Given the description of an element on the screen output the (x, y) to click on. 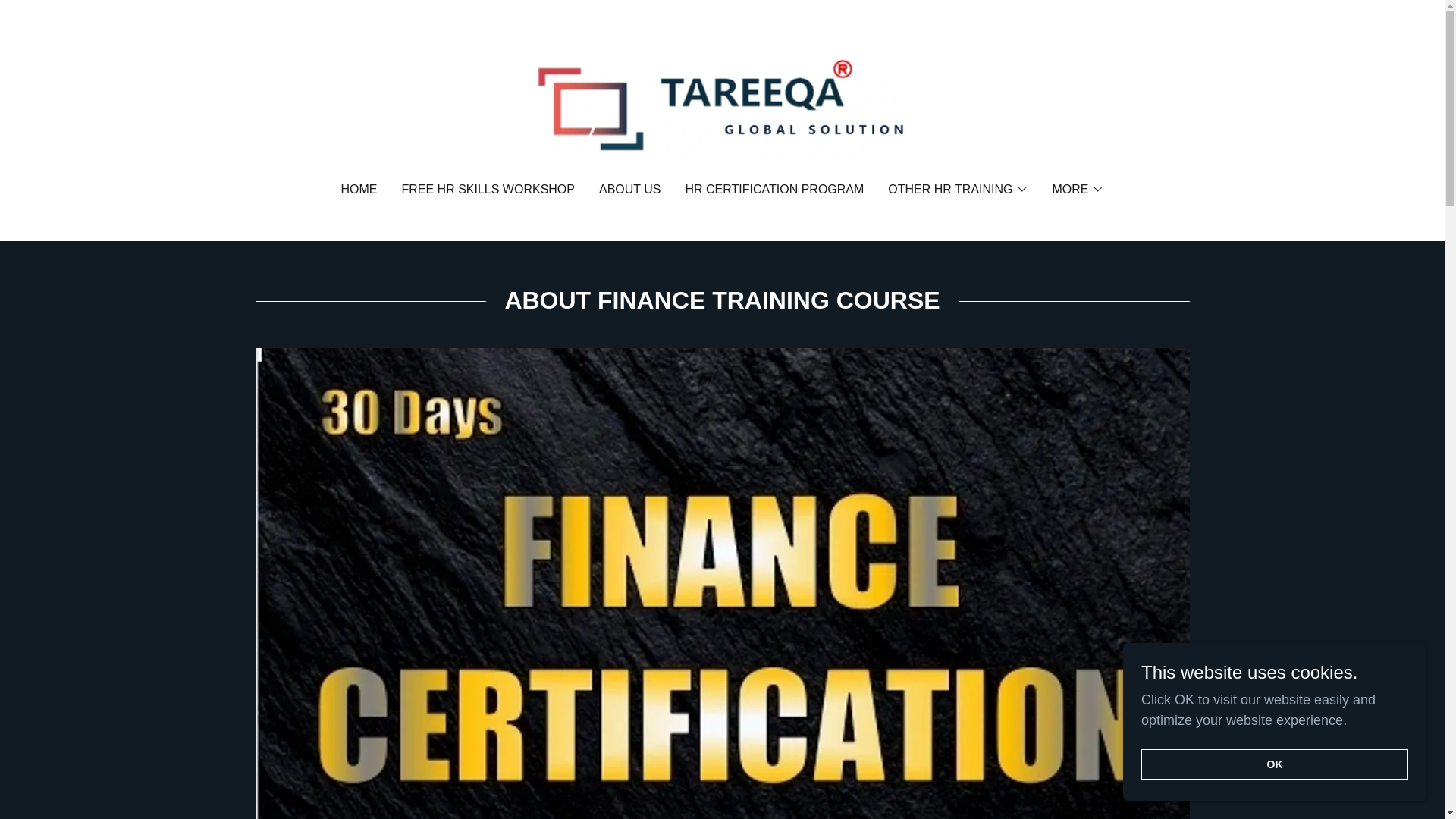
OTHER HR TRAINING (957, 189)
Tareeqa Global Solution (721, 101)
ABOUT US (629, 189)
HOME (358, 189)
FREE HR SKILLS WORKSHOP (487, 189)
MORE (1077, 189)
HR CERTIFICATION PROGRAM (773, 189)
